Given the description of an element on the screen output the (x, y) to click on. 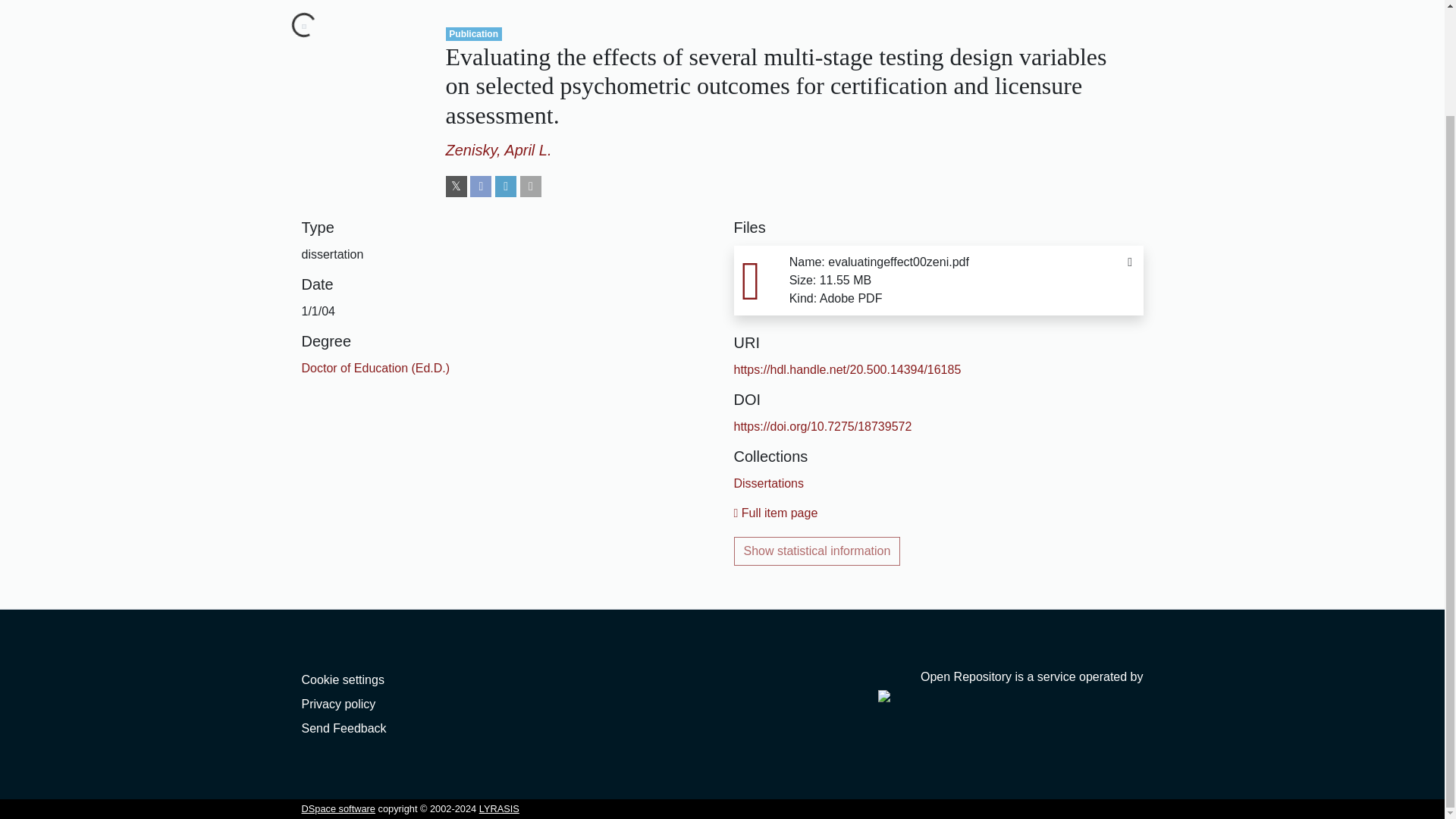
Cookie settings (342, 679)
Full item page (775, 512)
Home (317, 1)
Dissertations (768, 482)
Show statistical information (817, 551)
Send Feedback (344, 727)
DSpace software (338, 808)
LYRASIS (499, 808)
Open Repository is a service operated by (1009, 685)
Privacy policy (338, 703)
